Given the description of an element on the screen output the (x, y) to click on. 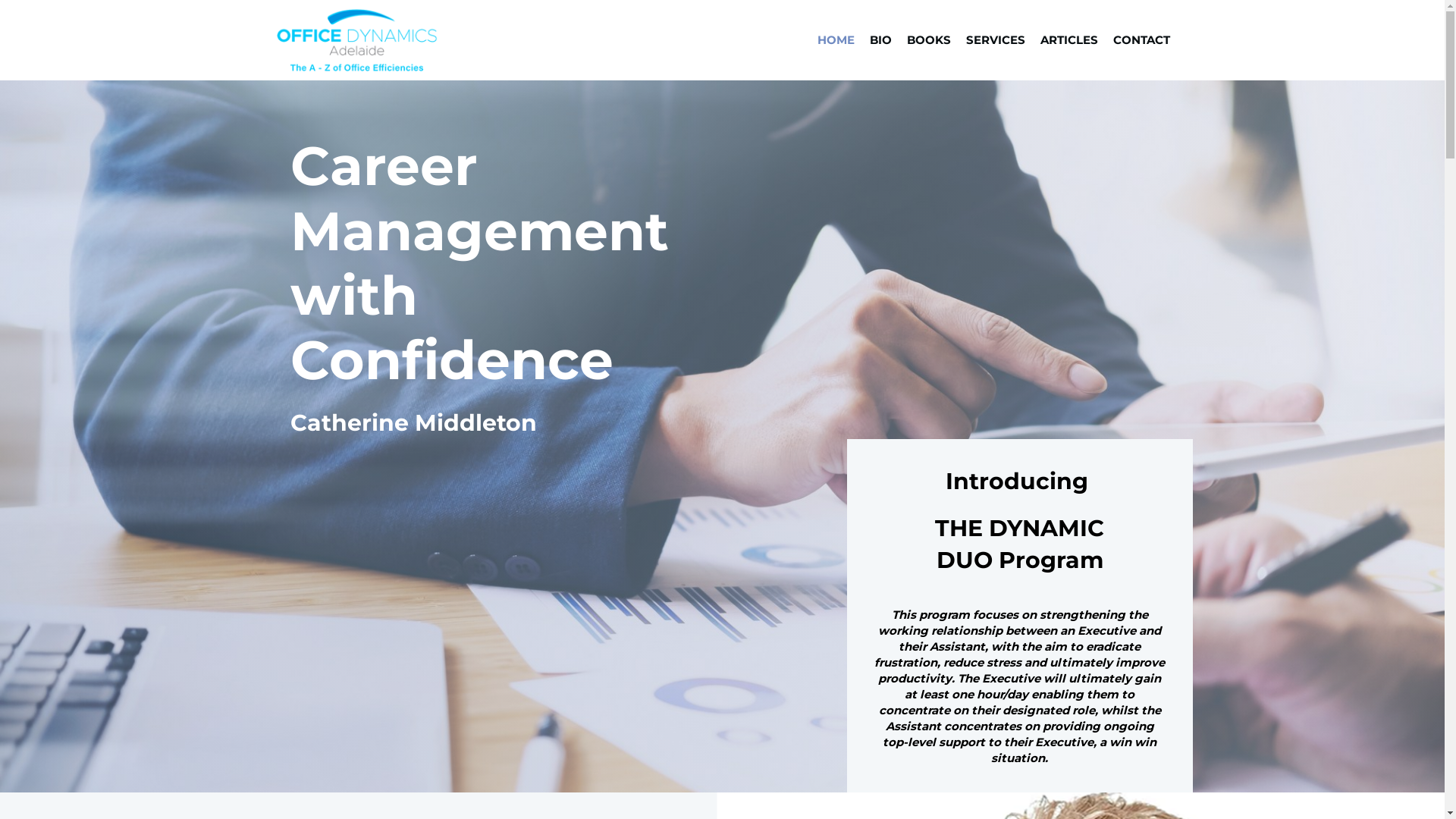
ARTICLES Element type: text (1068, 40)
BOOKS Element type: text (928, 40)
SERVICES Element type: text (995, 40)
BIO Element type: text (879, 40)
CONTACT Element type: text (1141, 40)
HOME Element type: text (835, 40)
